Given the description of an element on the screen output the (x, y) to click on. 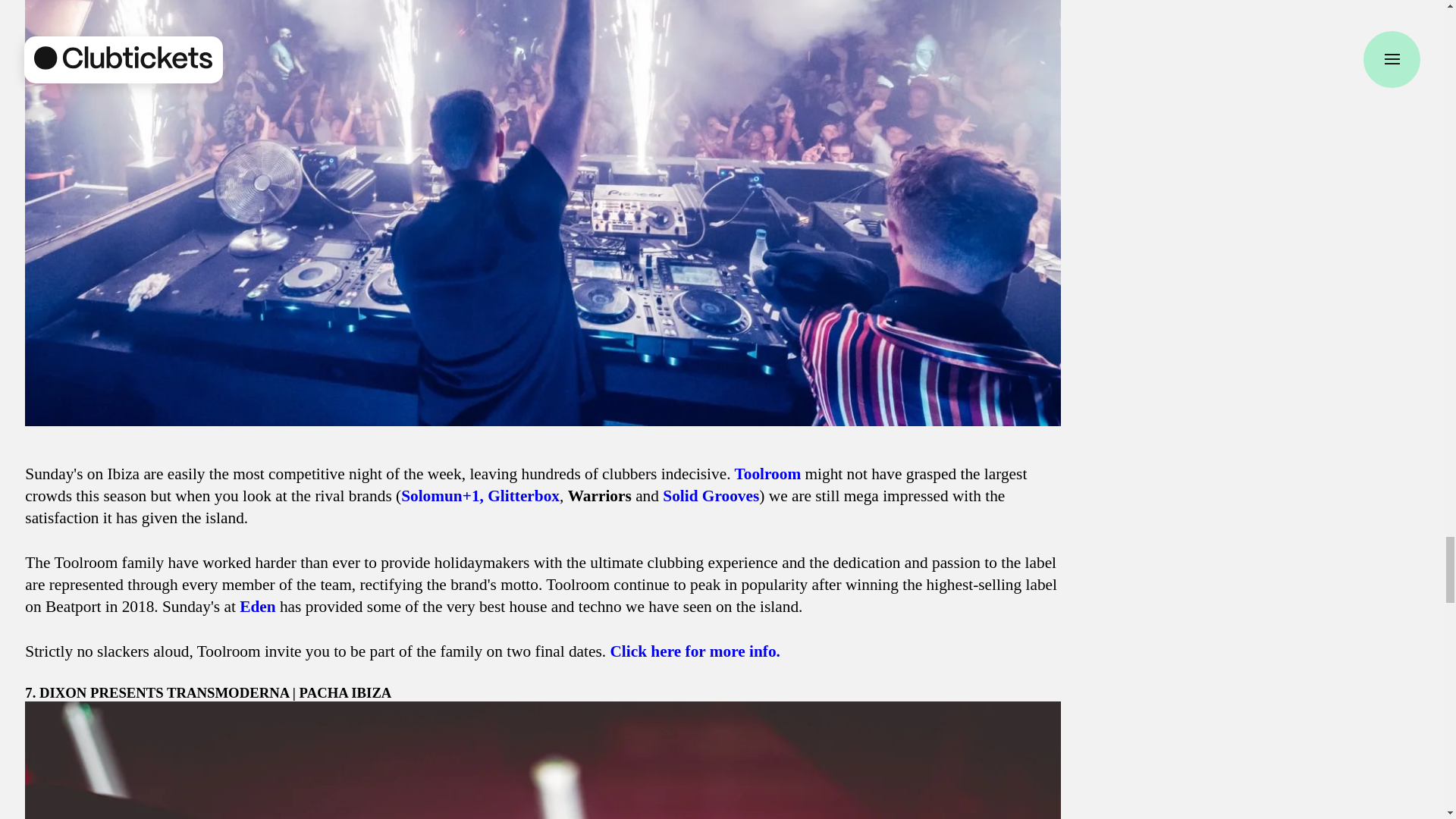
Solid Grooves (710, 495)
Click here for more info. (695, 651)
Glitterbox (523, 495)
Eden (255, 606)
Toolroom (766, 474)
